Given the description of an element on the screen output the (x, y) to click on. 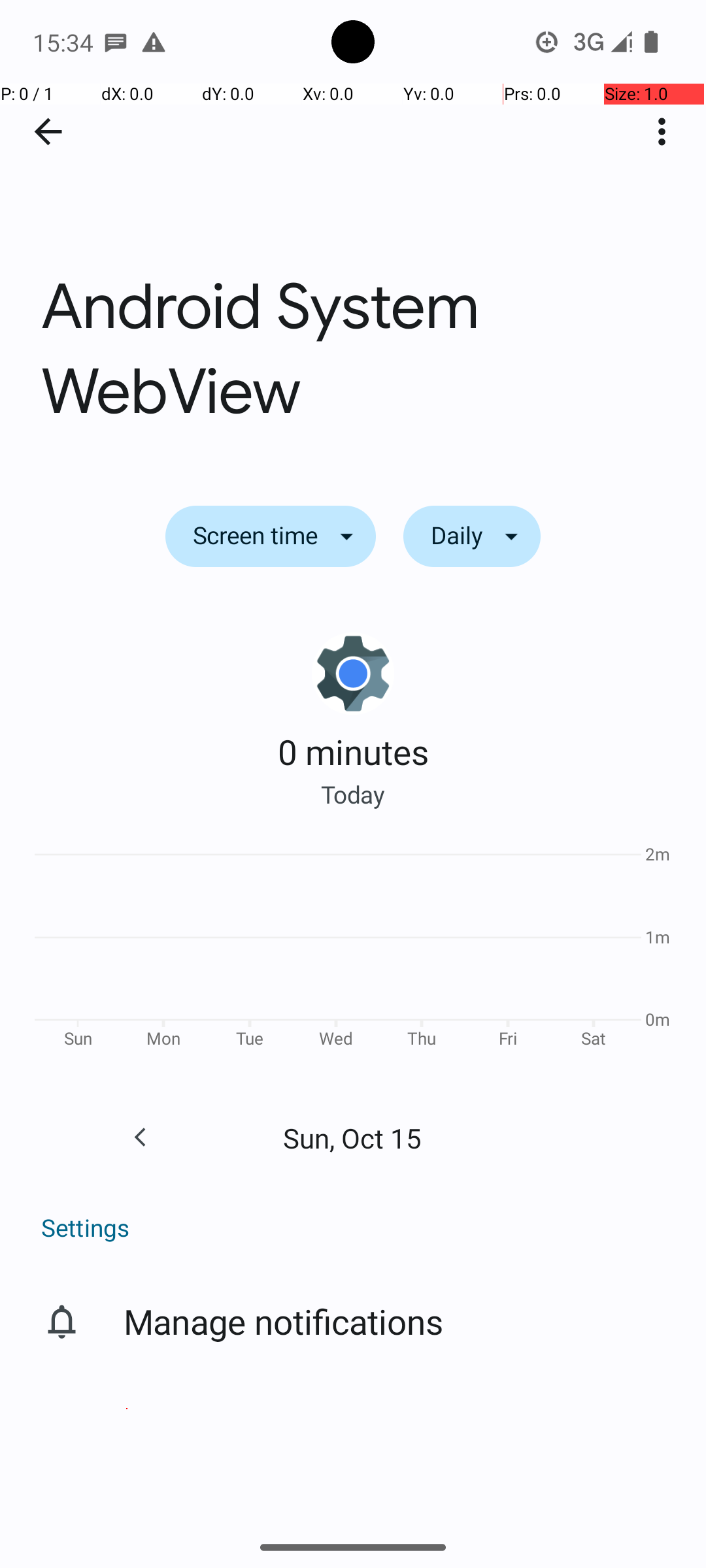
Android System WebView Element type: android.widget.FrameLayout (353, 233)
Screen time Element type: android.widget.Spinner (270, 536)
Daily Element type: android.widget.Spinner (471, 536)
0 minutes Element type: android.widget.TextView (353, 751)
Go to the previous day Element type: android.widget.Button (139, 1137)
Bar Chart. Showing App usage data with 7 data points. Element type: android.view.ViewGroup (353, 950)
Manage notifications Element type: android.widget.TextView (283, 1321)
